Given the description of an element on the screen output the (x, y) to click on. 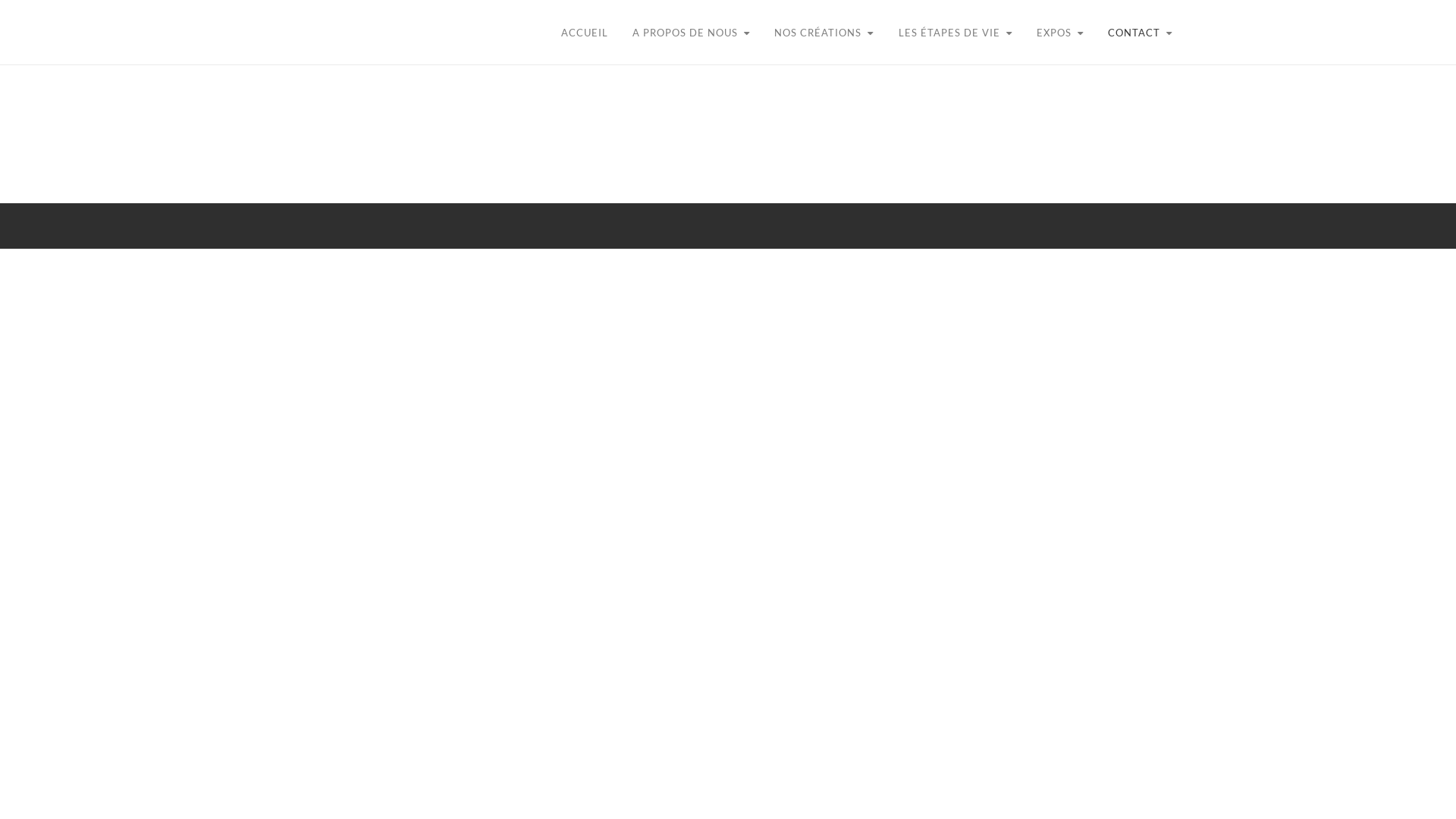
ACCUEIL Element type: text (548, 32)
